Given the description of an element on the screen output the (x, y) to click on. 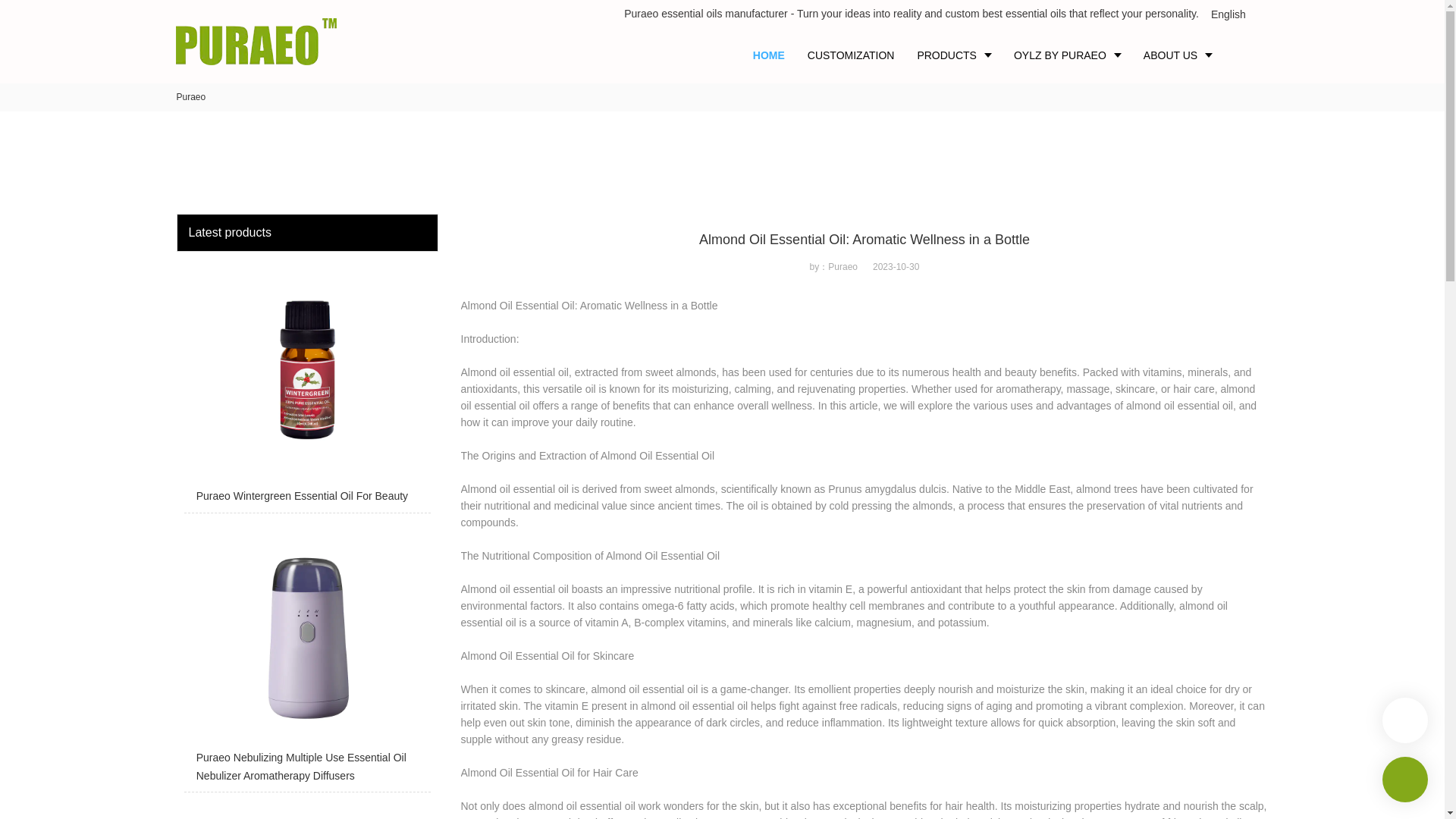
Puraeo (190, 96)
Puraeo Wintergreen Essential Oil For Beauty (306, 385)
ABOUT US (1177, 55)
HOME (768, 55)
OYLZ BY PURAEO (1067, 55)
Puraeo OEM Citronella Essential Oil Private (306, 809)
CUSTOMIZATION (850, 55)
PRODUCTS (954, 55)
